Given the description of an element on the screen output the (x, y) to click on. 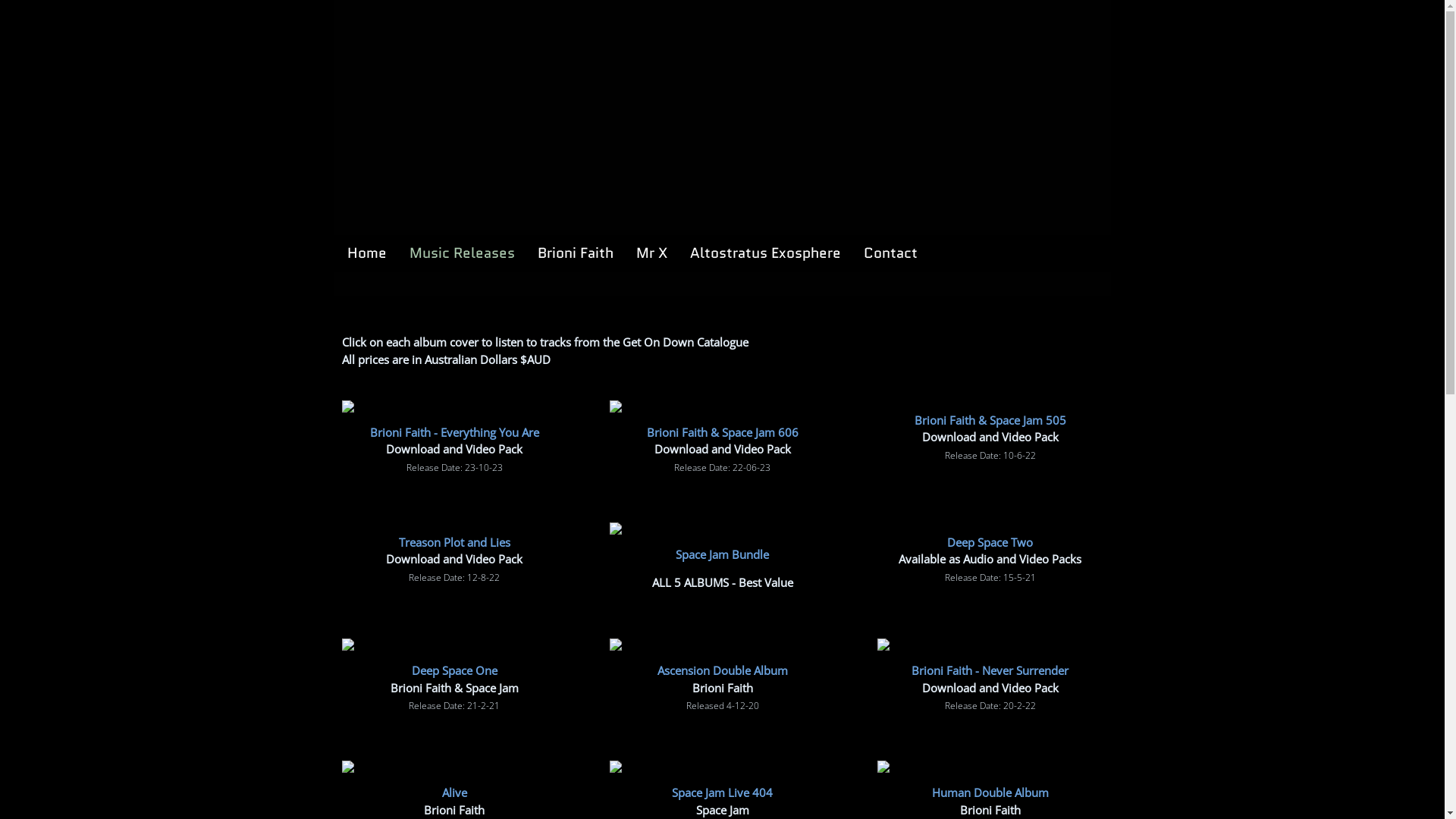
Space Jam Live 404 Element type: text (721, 792)
Altostratus Exosphere Element type: text (765, 253)
Deep Space One Element type: text (454, 669)
Alive Element type: text (454, 792)
Ascension Double Album Element type: text (721, 669)
Brioni Faith & Space Jam 606 Element type: text (721, 431)
Brioni Faith & Space Jam 505 Element type: text (990, 419)
Music Releases Element type: text (461, 253)
Brioni Faith Element type: text (574, 253)
Human Double Album Element type: text (989, 792)
Brioni Faith - Everything You Are Element type: text (454, 431)
Mr X Element type: text (650, 253)
Treason Plot and Lies Element type: text (454, 541)
Home Element type: text (366, 253)
Deep Space Two Element type: text (989, 541)
Space Jam Bundle Element type: text (721, 553)
Brioni Faith - Never Surrender Element type: text (989, 669)
Contact Element type: text (889, 253)
